Given the description of an element on the screen output the (x, y) to click on. 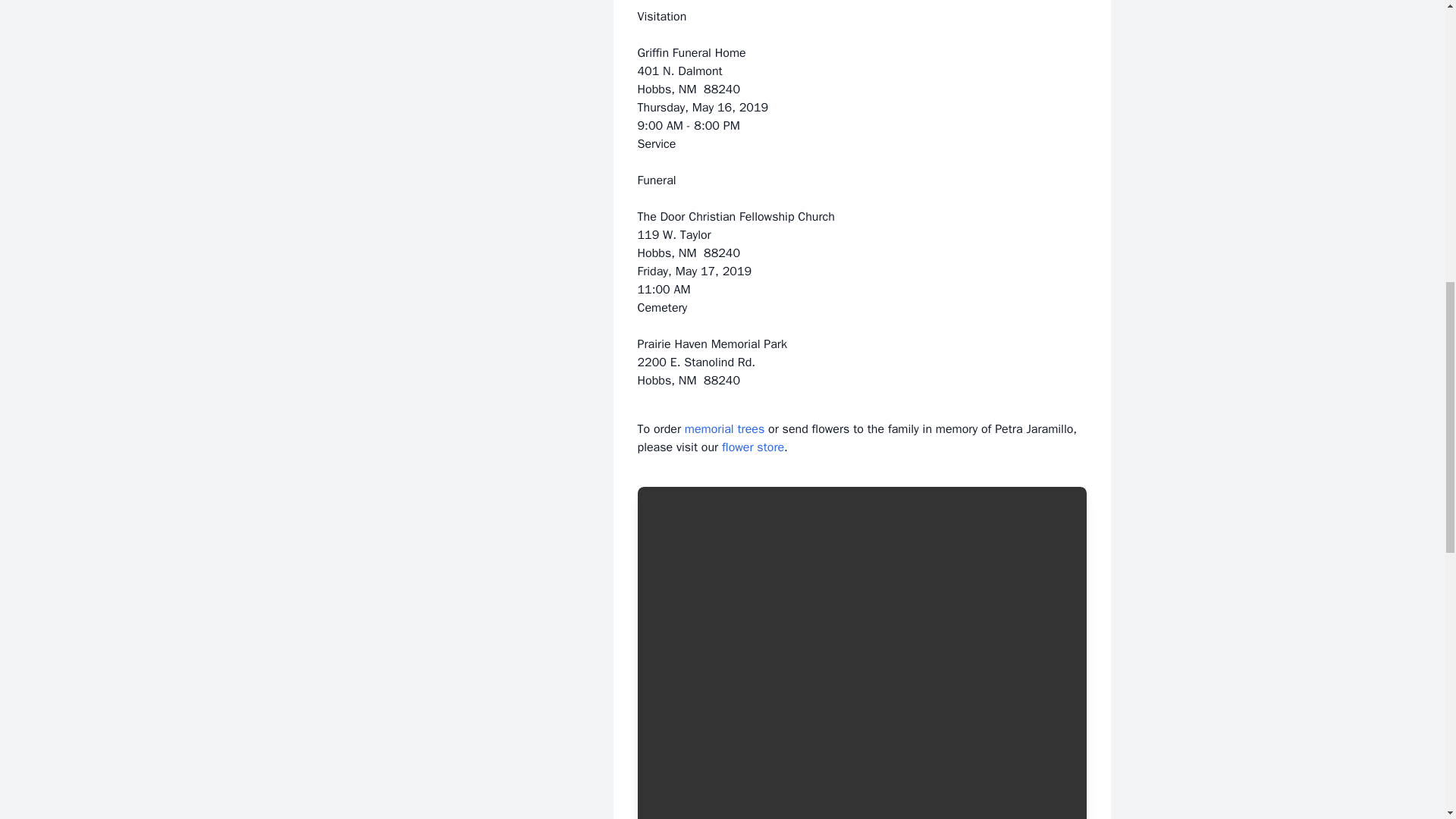
flower store (753, 447)
memorial trees (724, 428)
